Given the description of an element on the screen output the (x, y) to click on. 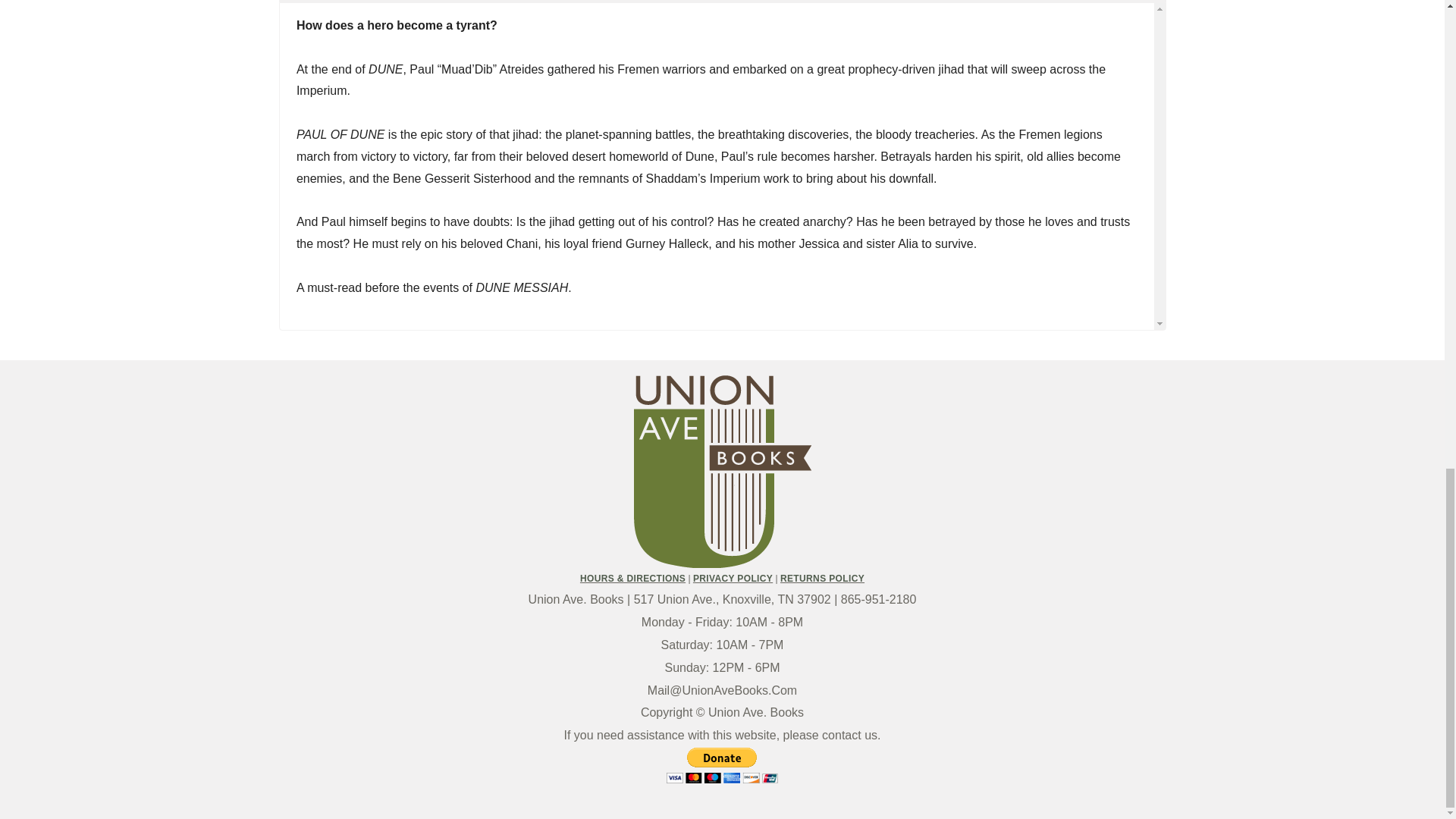
PayPal - The safer, easier way to pay online! (721, 764)
